Given the description of an element on the screen output the (x, y) to click on. 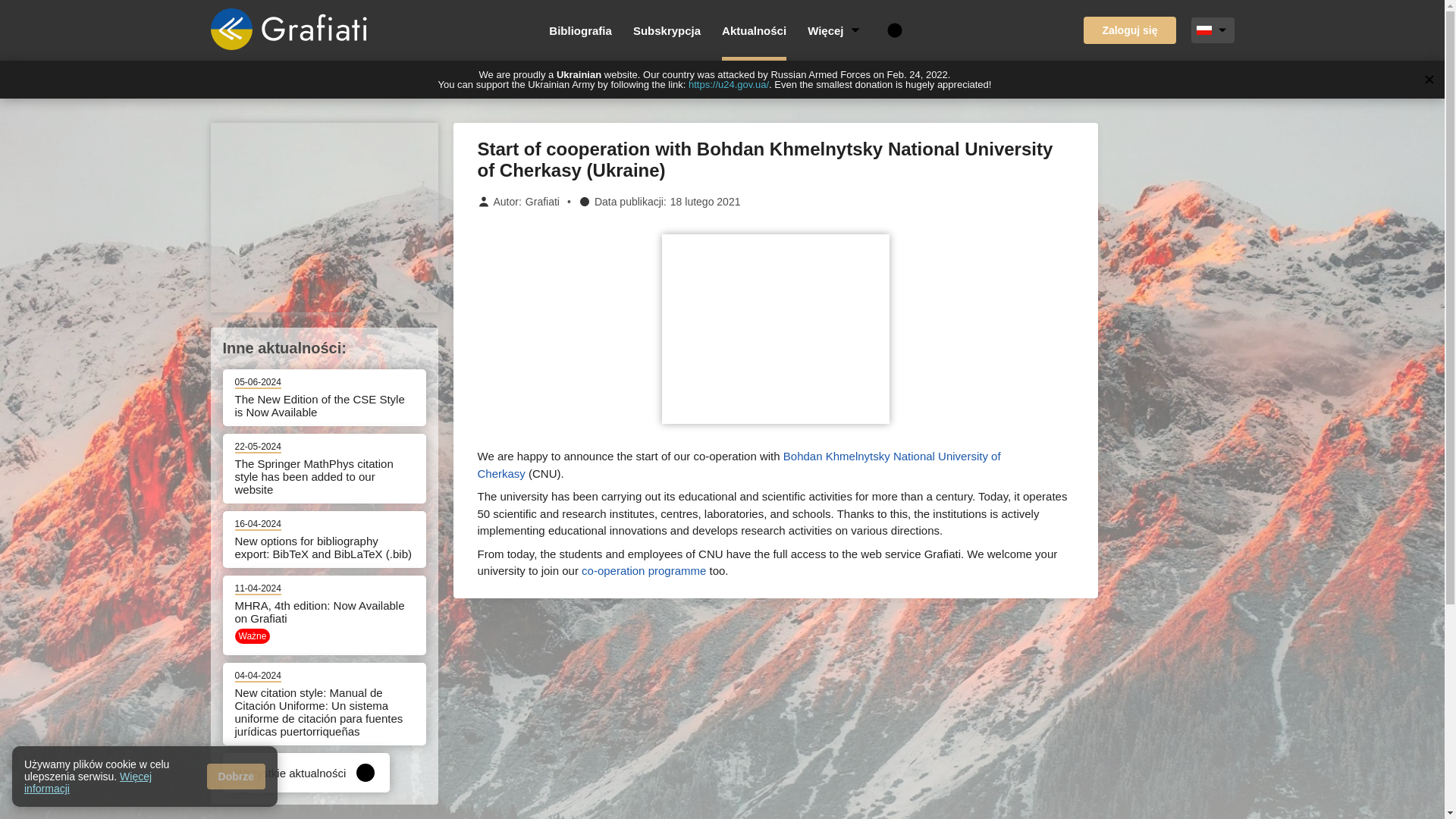
Advertisement (324, 217)
Polski (1203, 30)
Grafiati (542, 201)
Bibliografia (579, 30)
Advertisement (774, 329)
Subskrypcja (666, 30)
